Given the description of an element on the screen output the (x, y) to click on. 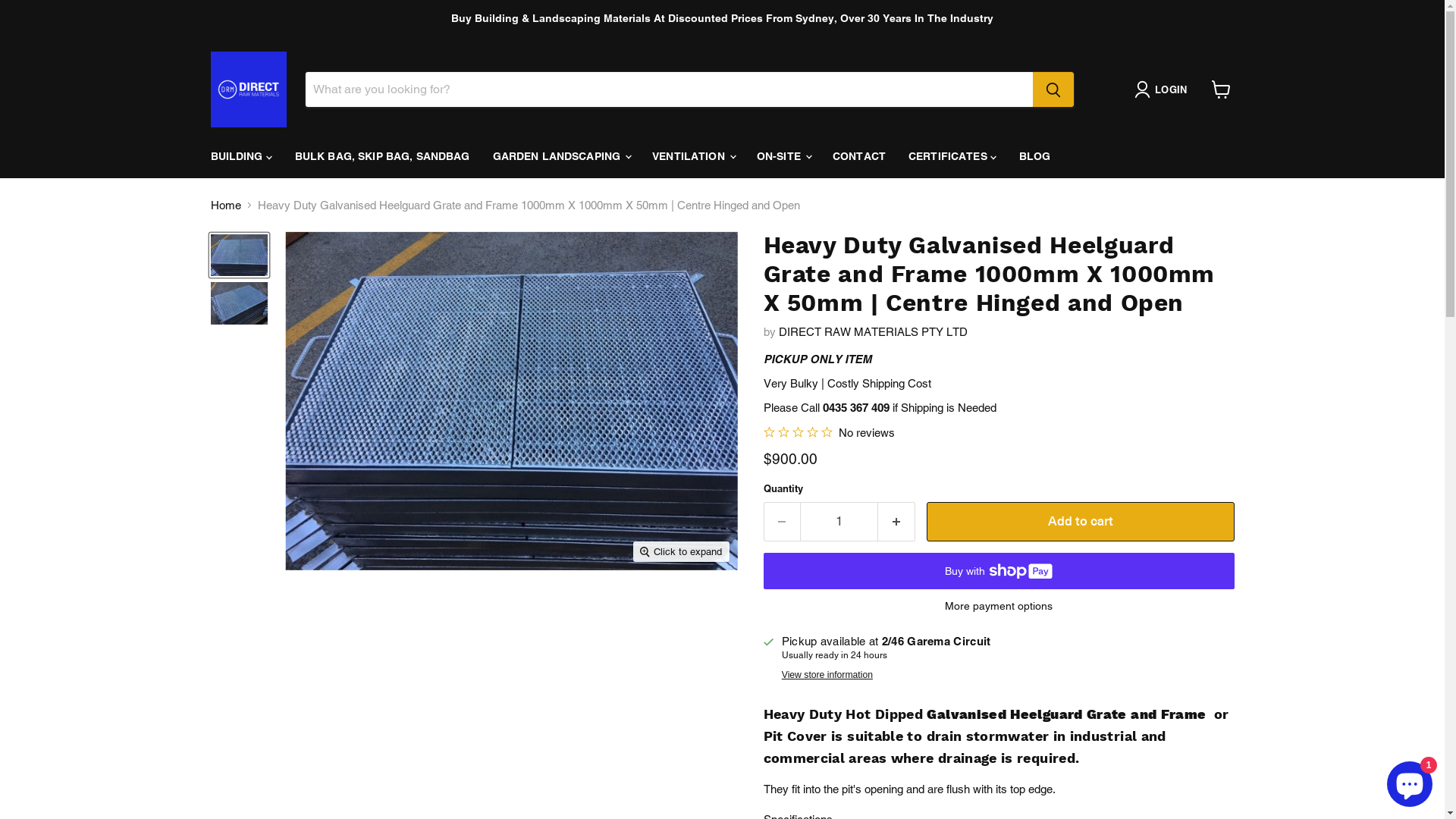
BLOG Element type: text (1034, 156)
DIRECT RAW MATERIALS PTY LTD Element type: text (872, 331)
Home Element type: text (225, 204)
Add to cart Element type: text (1080, 521)
CONTACT Element type: text (859, 156)
Click to expand Element type: text (680, 551)
BULK BAG, SKIP BAG, SANDBAG Element type: text (382, 156)
LOGIN Element type: text (1163, 89)
Shopify online store chat Element type: hover (1409, 780)
View store information Element type: text (826, 674)
More payment options Element type: text (997, 605)
View cart Element type: text (1221, 89)
